Given the description of an element on the screen output the (x, y) to click on. 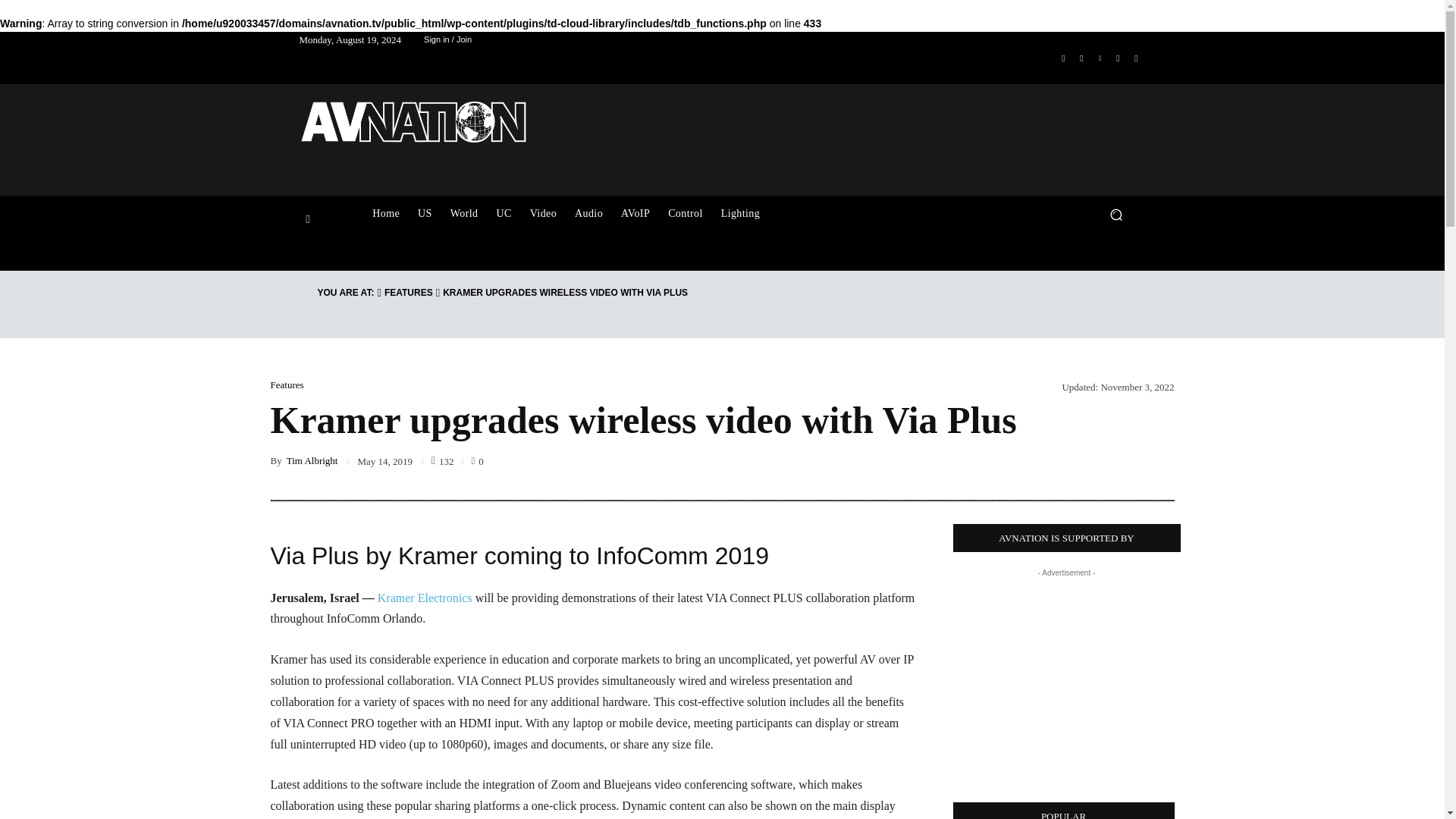
US (425, 213)
Youtube (1135, 57)
World (464, 213)
UC (502, 213)
Twitter (1117, 57)
Instagram (1080, 57)
Home (385, 213)
Facebook (1062, 57)
Linkedin (1099, 57)
Video (543, 213)
